Given the description of an element on the screen output the (x, y) to click on. 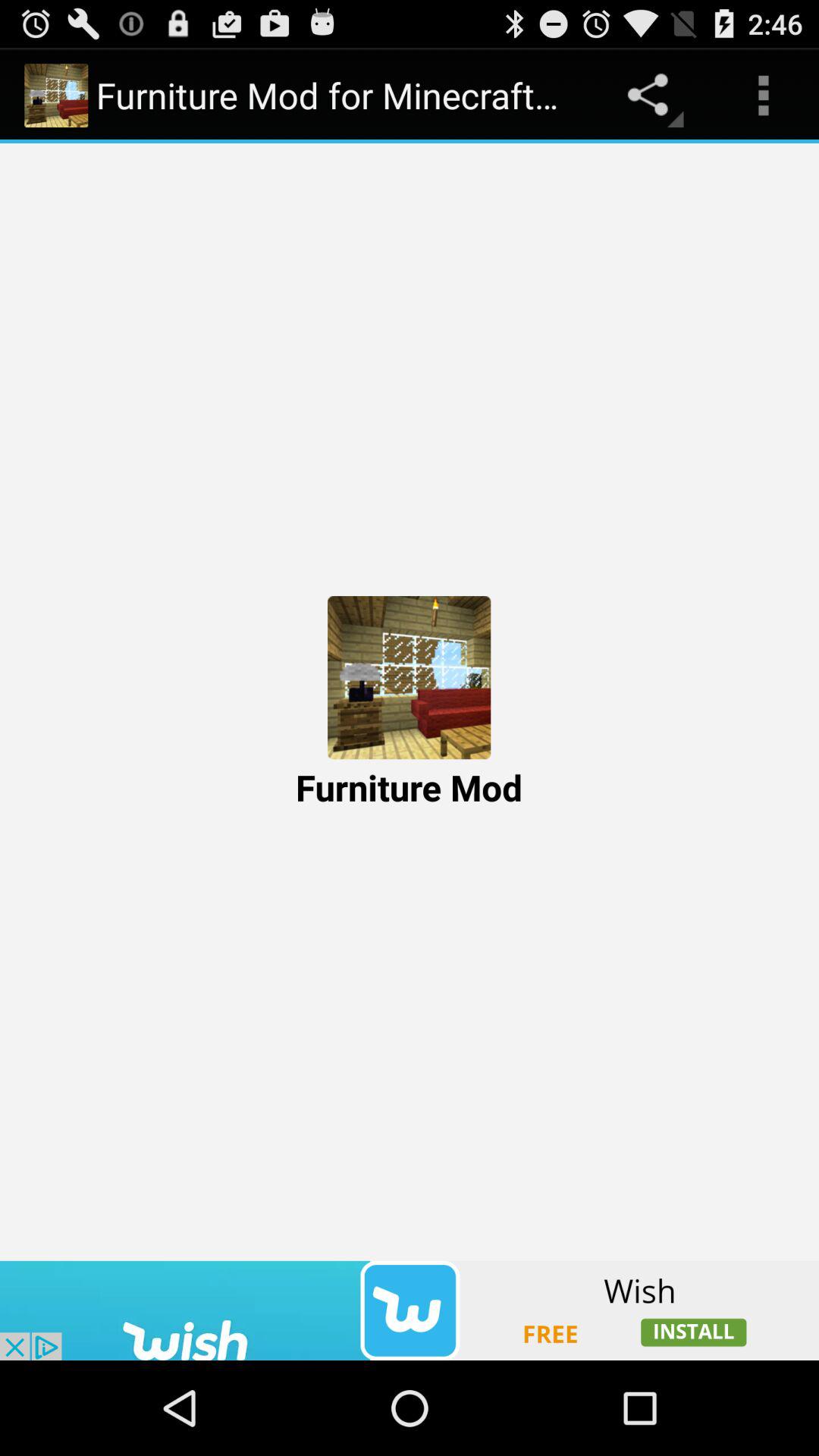
install wish (409, 1310)
